Given the description of an element on the screen output the (x, y) to click on. 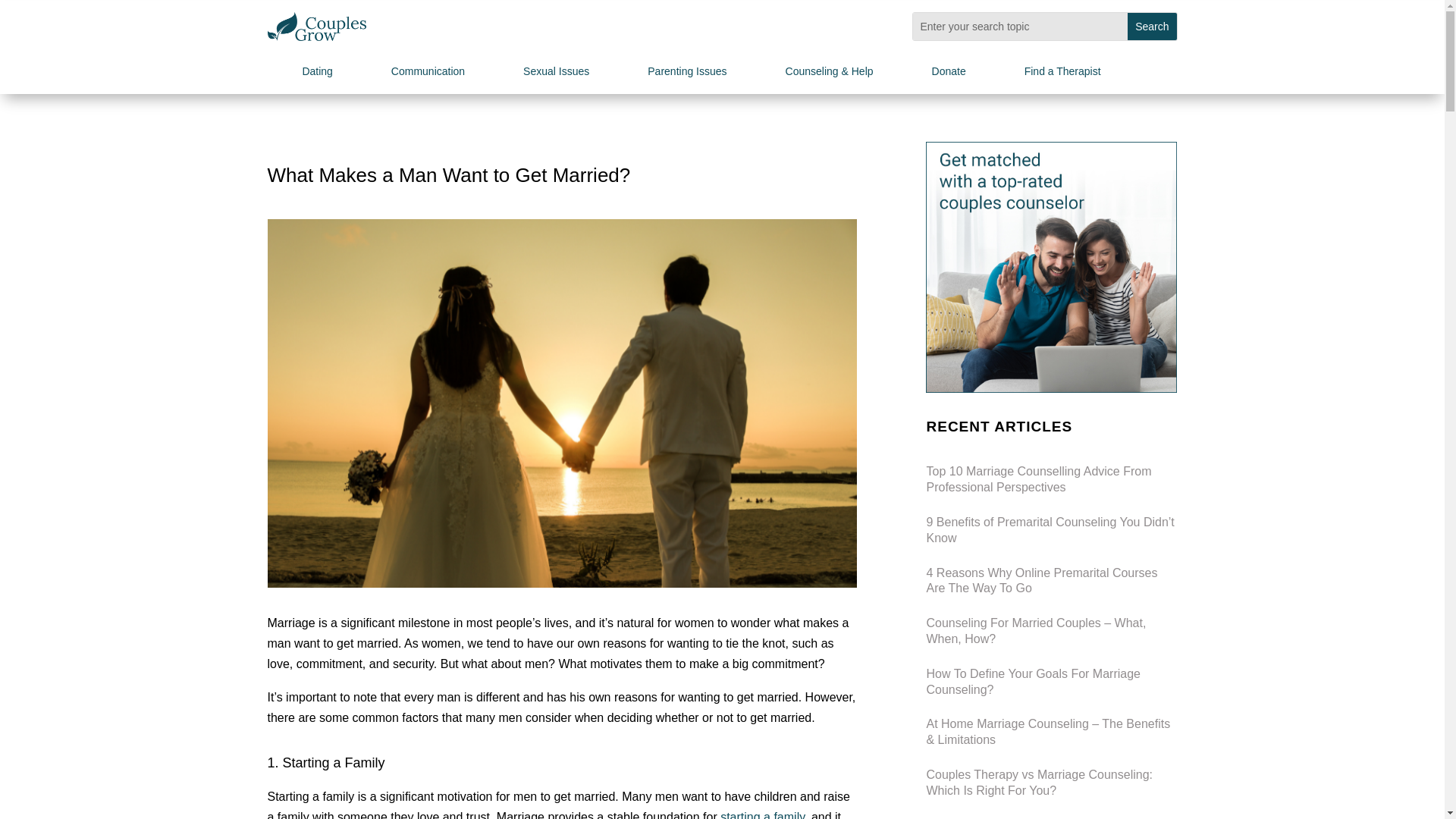
Couples Grow logo (315, 26)
Sexual Issues (576, 74)
get-matched (1051, 267)
Communication (448, 74)
How To Define Your Goals For Marriage Counseling? (1033, 681)
starting a family (762, 814)
Find a Therapist (1083, 74)
Dating (337, 74)
Parenting Issues (707, 74)
Search (1151, 26)
4 Reasons Why Online Premarital Courses Are The Way To Go (1041, 580)
Search (1151, 26)
Search (1151, 26)
